Given the description of an element on the screen output the (x, y) to click on. 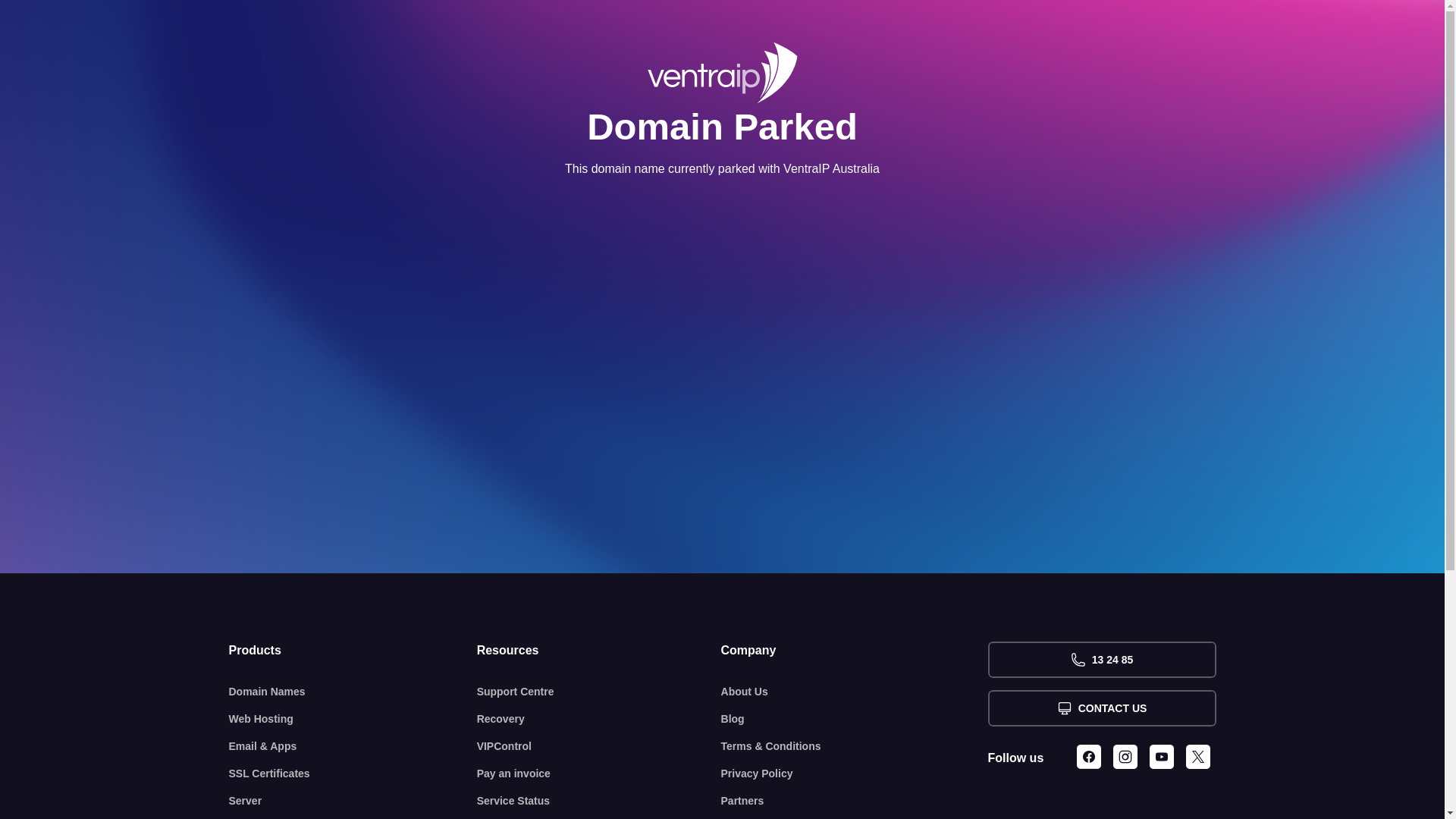
Web Hosting Element type: text (352, 718)
Pay an invoice Element type: text (598, 773)
VIPControl Element type: text (598, 745)
About Us Element type: text (854, 691)
13 24 85 Element type: text (1101, 659)
CONTACT US Element type: text (1101, 708)
Partners Element type: text (854, 800)
Domain Names Element type: text (352, 691)
Privacy Policy Element type: text (854, 773)
Email & Apps Element type: text (352, 745)
Recovery Element type: text (598, 718)
SSL Certificates Element type: text (352, 773)
Service Status Element type: text (598, 800)
Blog Element type: text (854, 718)
Server Element type: text (352, 800)
Terms & Conditions Element type: text (854, 745)
Support Centre Element type: text (598, 691)
